Given the description of an element on the screen output the (x, y) to click on. 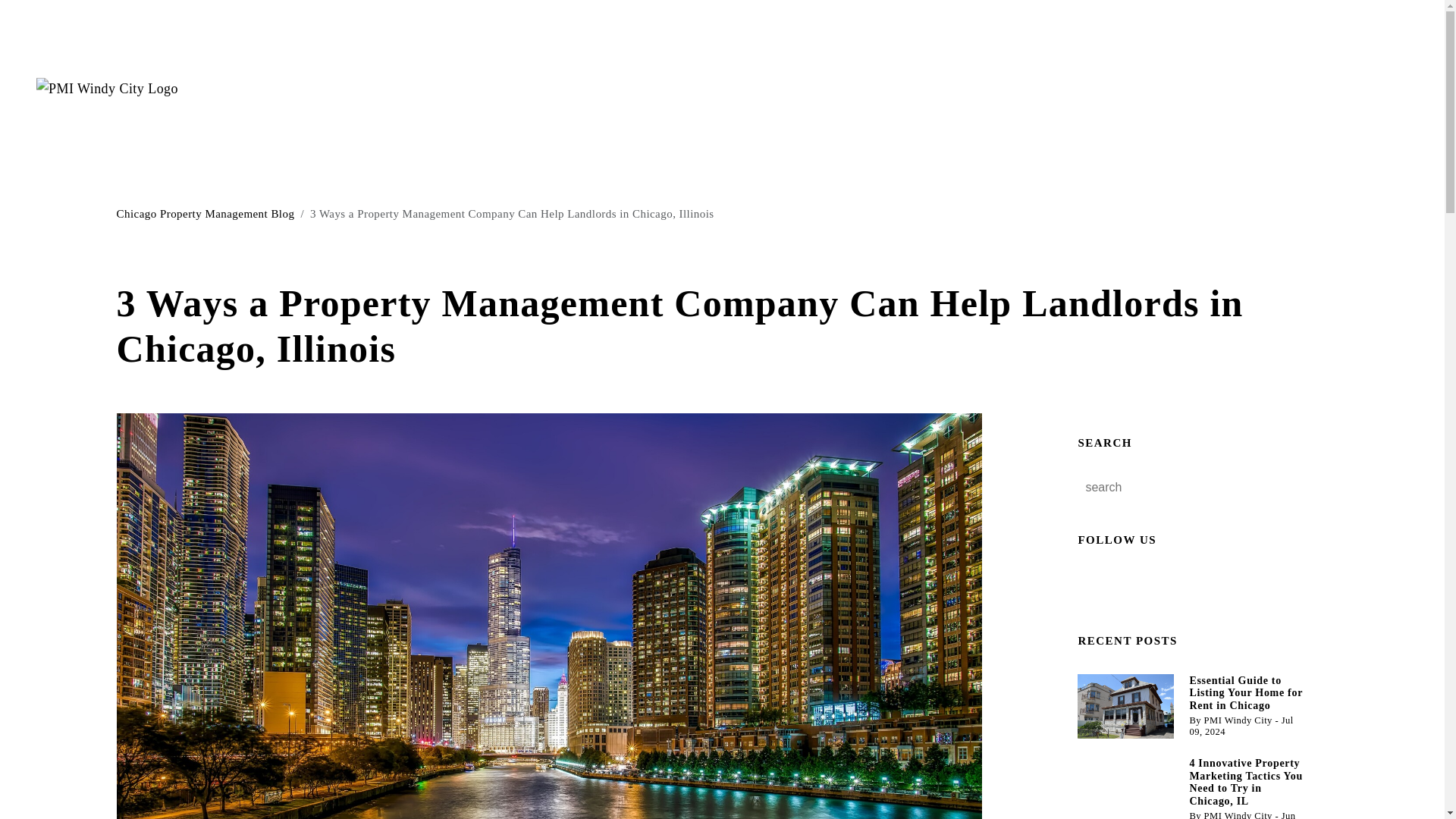
Our Services (323, 89)
opens in a new window (1121, 586)
Properties (416, 89)
SCHEDULE A CONSULT (1309, 114)
CUSTOMER LOGIN (1309, 63)
At least 3 characters (1170, 486)
opens in a new window (1151, 586)
opens in a new window (1090, 586)
Resources (501, 89)
